Given the description of an element on the screen output the (x, y) to click on. 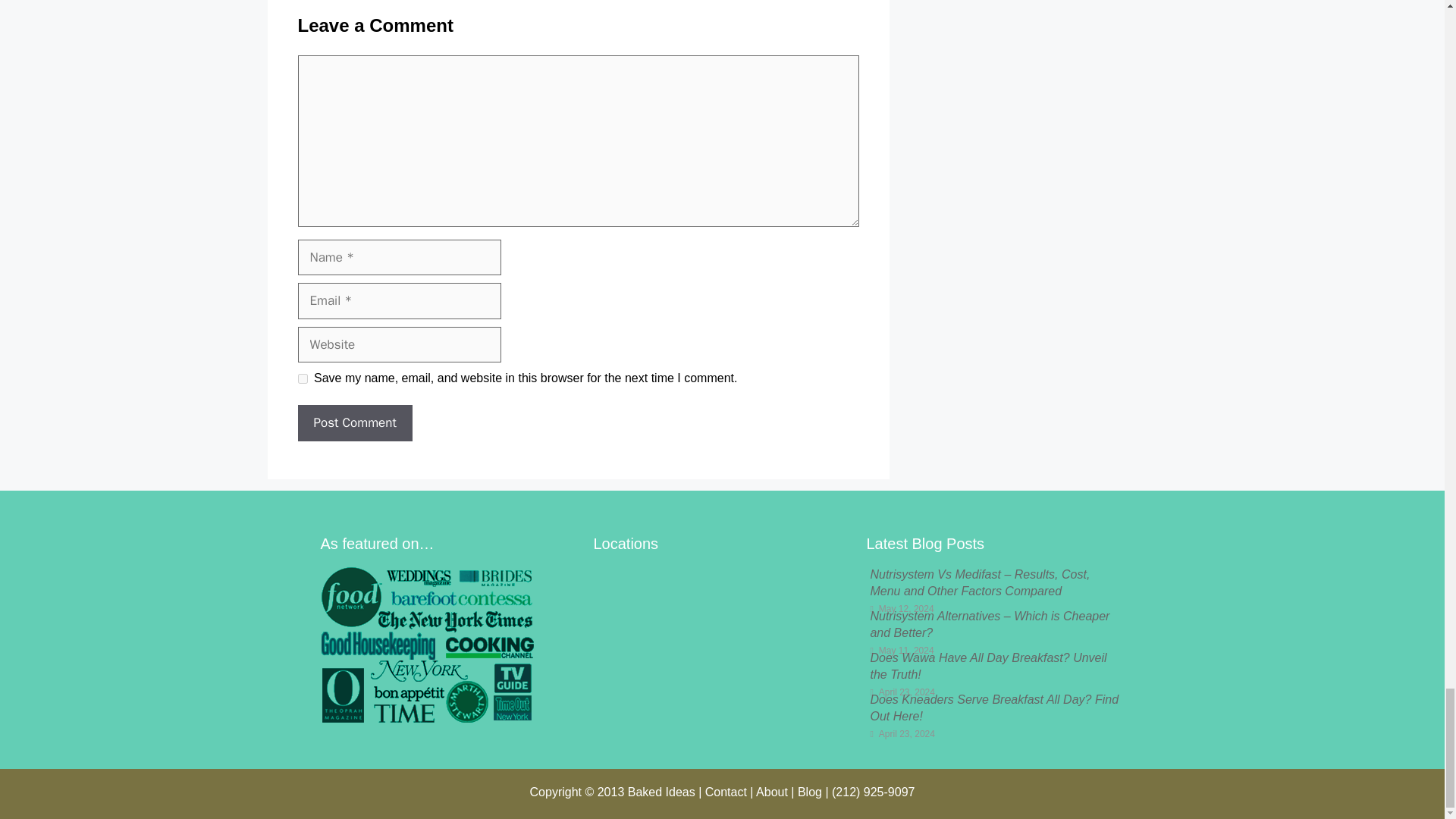
yes (302, 378)
Does Wawa Have All Day Breakfast? Unveil the Truth! (987, 665)
Post Comment (354, 422)
Does Kneaders Serve Breakfast All Day? Find Out Here! (993, 707)
Baked Ideas (661, 791)
London Eye, London, United Kingdom (721, 643)
